Given the description of an element on the screen output the (x, y) to click on. 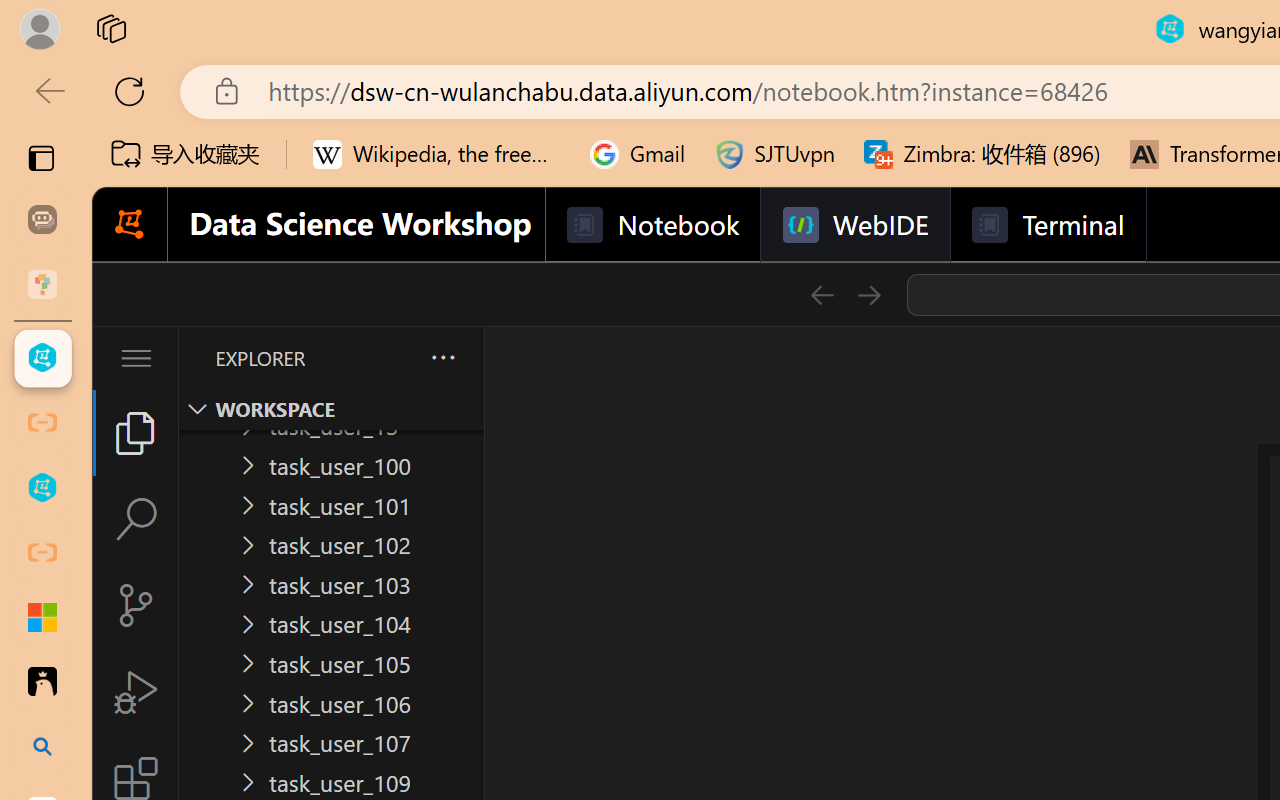
SJTUvpn (774, 154)
Application Menu (135, 358)
Explorer (Ctrl+Shift+E) (135, 432)
Search (Ctrl+Shift+F) (135, 519)
Go Back (Alt+LeftArrow) (821, 294)
Class: menubar compact overflow-menu-only (135, 358)
Go Forward (Alt+RightArrow) (867, 294)
Adjust indents and spacing - Microsoft Support (42, 617)
